Given the description of an element on the screen output the (x, y) to click on. 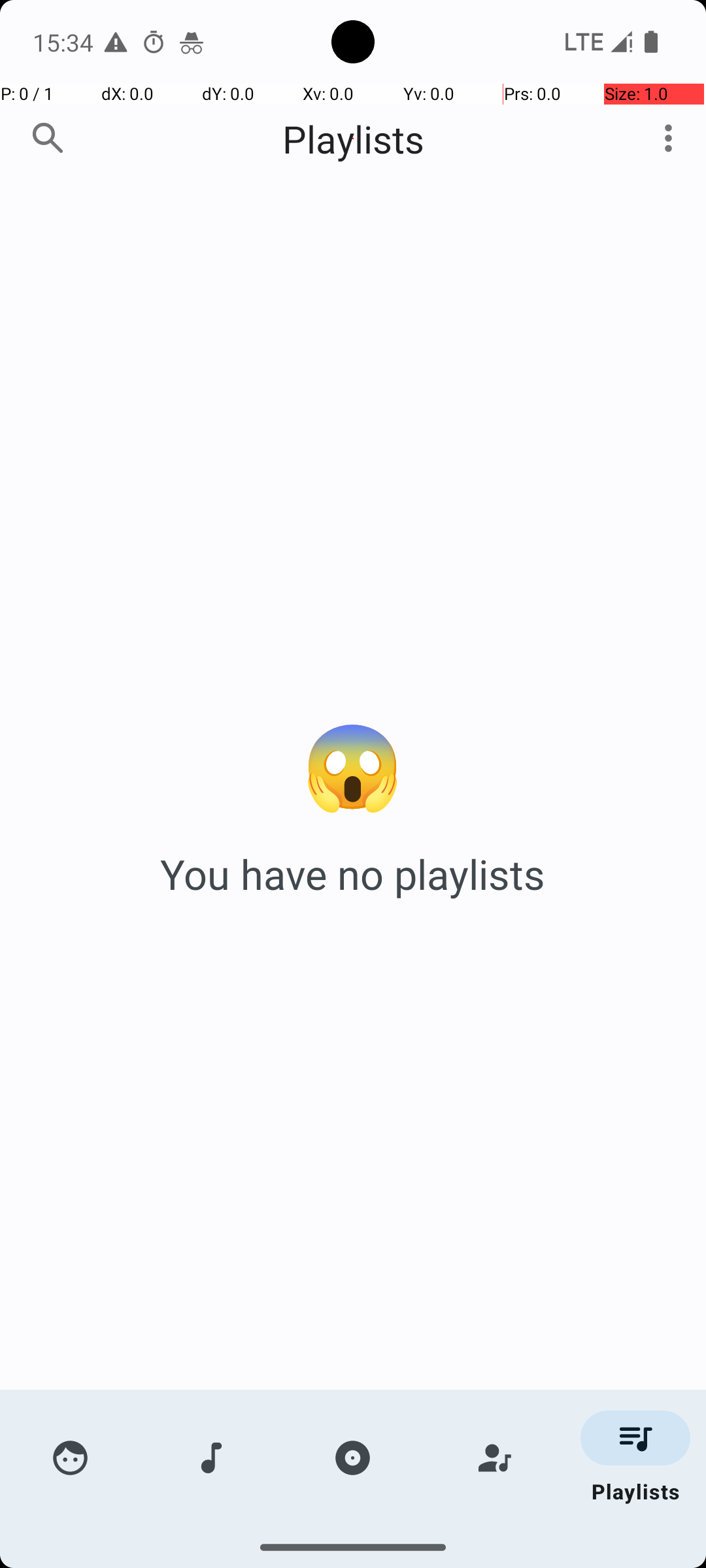
😱 Element type: android.widget.TextView (352, 763)
You have no playlists Element type: android.widget.TextView (352, 873)
